Given the description of an element on the screen output the (x, y) to click on. 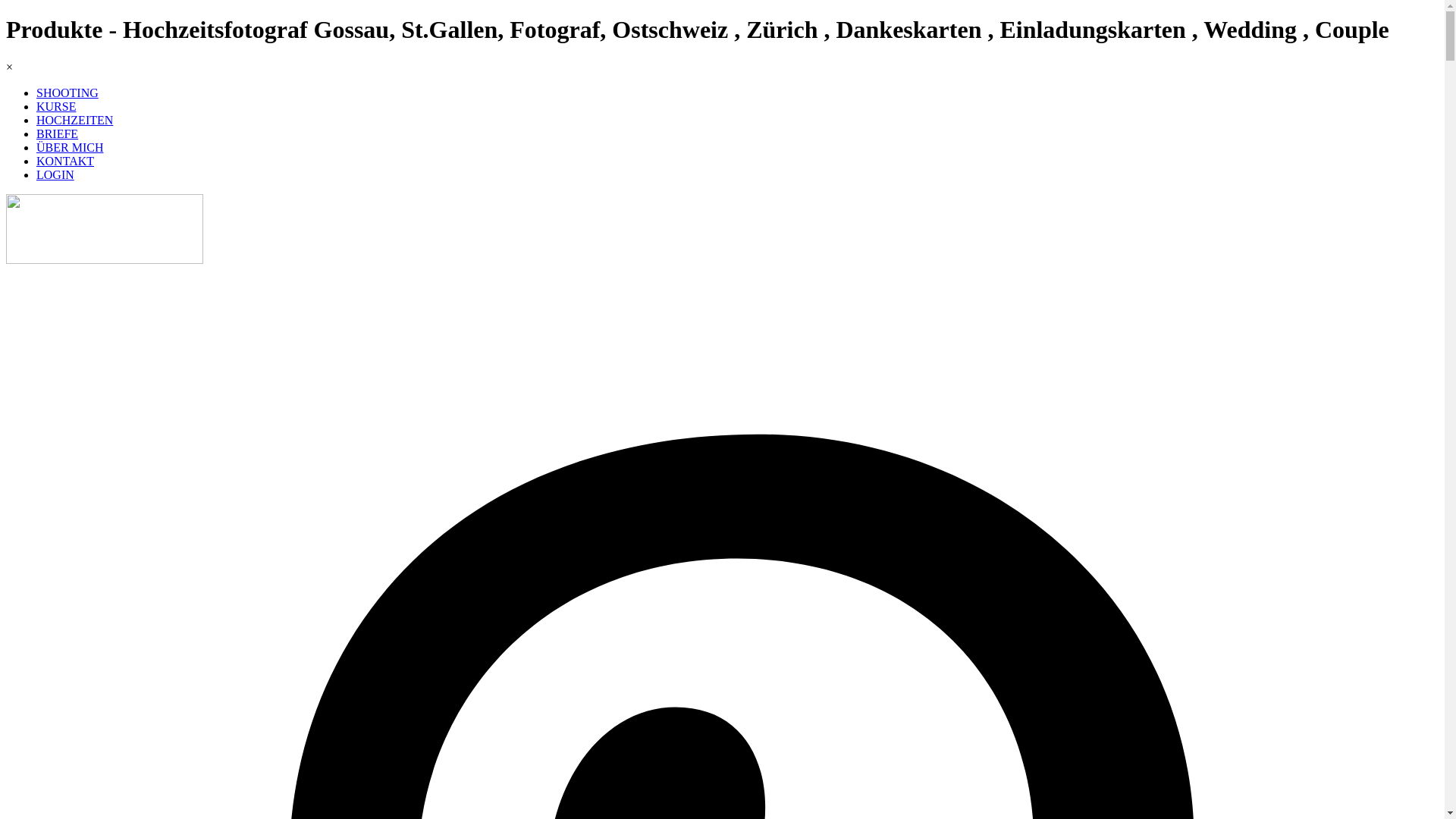
KONTAKT Element type: text (65, 160)
LOGIN Element type: text (55, 174)
HOCHZEITEN Element type: text (74, 119)
BRIEFE Element type: text (57, 133)
SHOOTING Element type: text (67, 92)
KURSE Element type: text (55, 106)
